Given the description of an element on the screen output the (x, y) to click on. 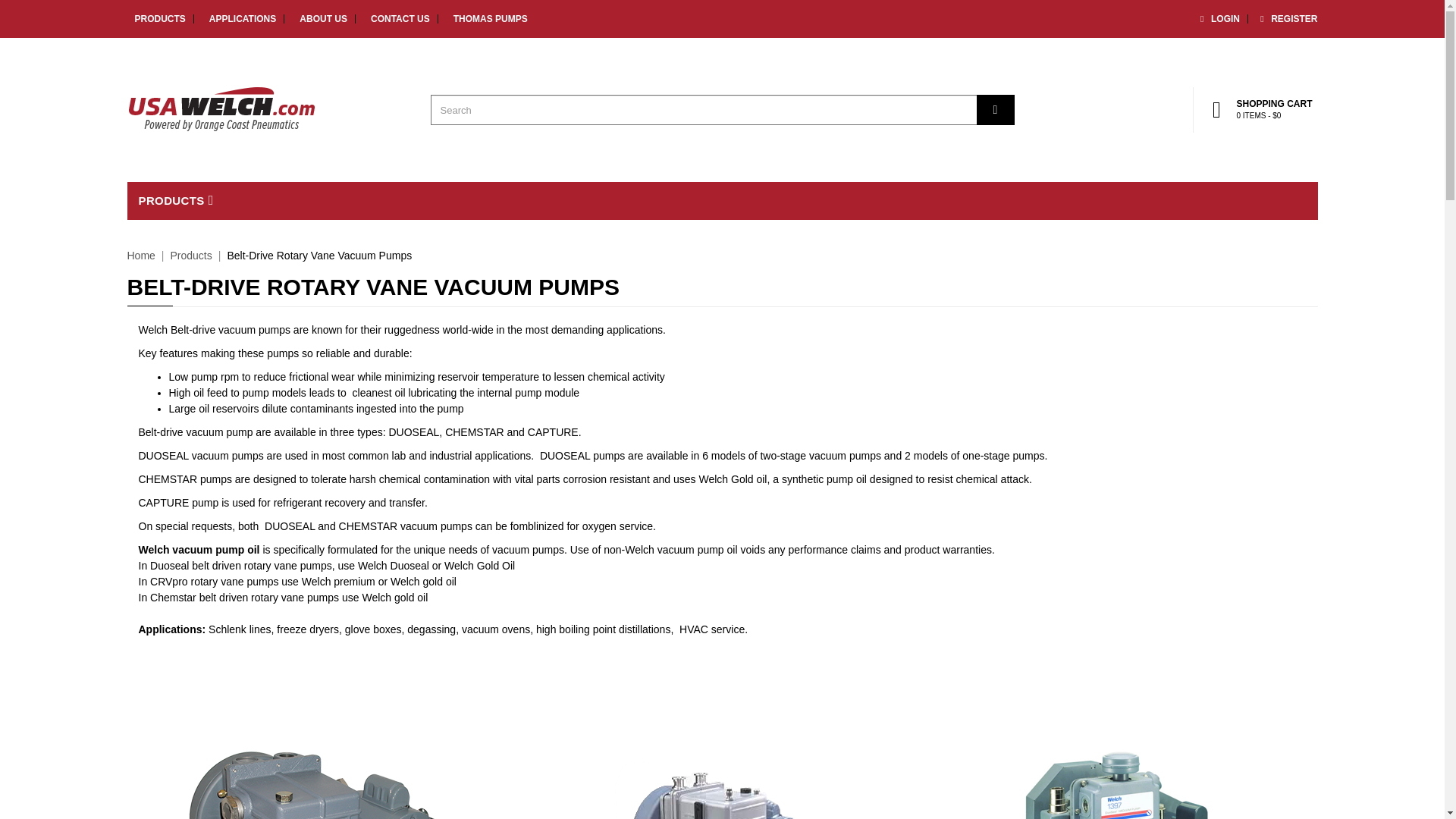
CONTACT US (395, 18)
PRODUCTS (176, 200)
ABOUT US (319, 18)
THOMAS PUMPS (486, 18)
APPLICATIONS (239, 18)
LOGIN (1217, 18)
REGISTER (1286, 18)
PRODUCTS (157, 18)
